Given the description of an element on the screen output the (x, y) to click on. 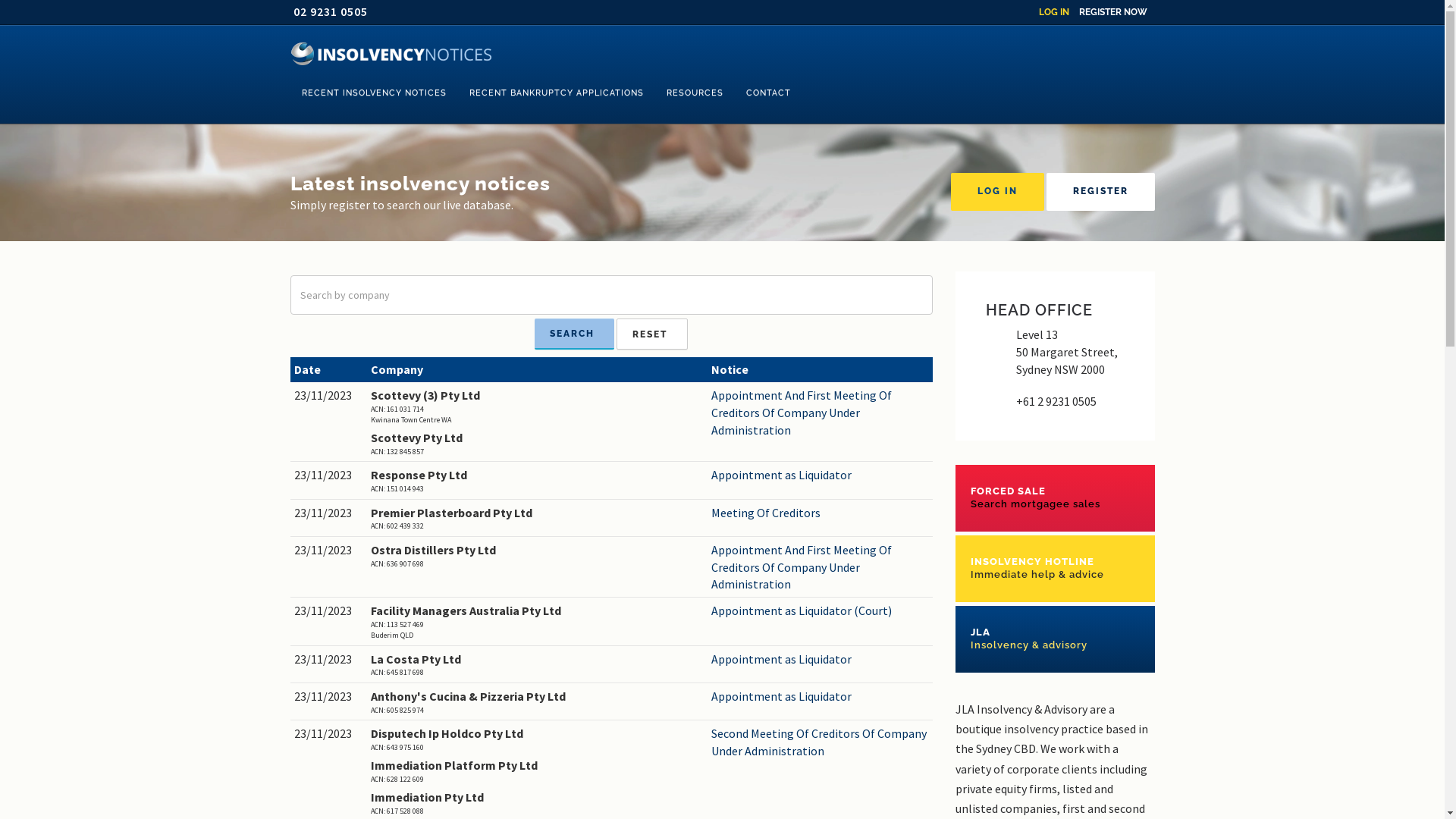
REGISTER Element type: text (1100, 191)
23/11/2023 Element type: text (329, 610)
23/11/2023 Element type: text (329, 512)
JLA  
Insolvency & advisory Element type: text (1054, 638)
Meeting Of Creditors Element type: text (819, 512)
Premier Plasterboard Pty Ltd
ACN: 602 439 332 Element type: text (536, 518)
RECENT INSOLVENCY NOTICES Element type: text (373, 92)
FORCED SALE  
Search mortgagee sales Element type: text (1054, 497)
LOG IN Element type: text (997, 191)
Second Meeting Of Creditors Of Company Under Administration Element type: text (819, 741)
Search Element type: text (574, 333)
Ostra Distillers Pty Ltd
ACN: 636 907 698 Element type: text (536, 555)
LOG IN Element type: text (1053, 11)
Appointment as Liquidator (Court) Element type: text (819, 610)
INSOLVENCY HOTLINE  
Immediate help & advice Element type: text (1054, 568)
23/11/2023 Element type: text (329, 696)
CONTACT Element type: text (767, 92)
RESOURCES Element type: text (694, 92)
REGISTER NOW Element type: text (1112, 11)
23/11/2023 Element type: text (329, 395)
La Costa Pty Ltd
ACN: 645 817 698 Element type: text (536, 664)
23/11/2023 Element type: text (329, 549)
Appointment as Liquidator Element type: text (819, 696)
23/11/2023 Element type: text (329, 659)
23/11/2023 Element type: text (329, 733)
Appointment as Liquidator Element type: text (819, 474)
23/11/2023 Element type: text (329, 474)
Appointment as Liquidator Element type: text (819, 659)
Response Pty Ltd
ACN: 151 014 943 Element type: text (536, 480)
RECENT BANKRUPTCY APPLICATIONS Element type: text (556, 92)
Anthony's Cucina & Pizzeria Pty Ltd
ACN: 605 825 974 Element type: text (536, 701)
